Given the description of an element on the screen output the (x, y) to click on. 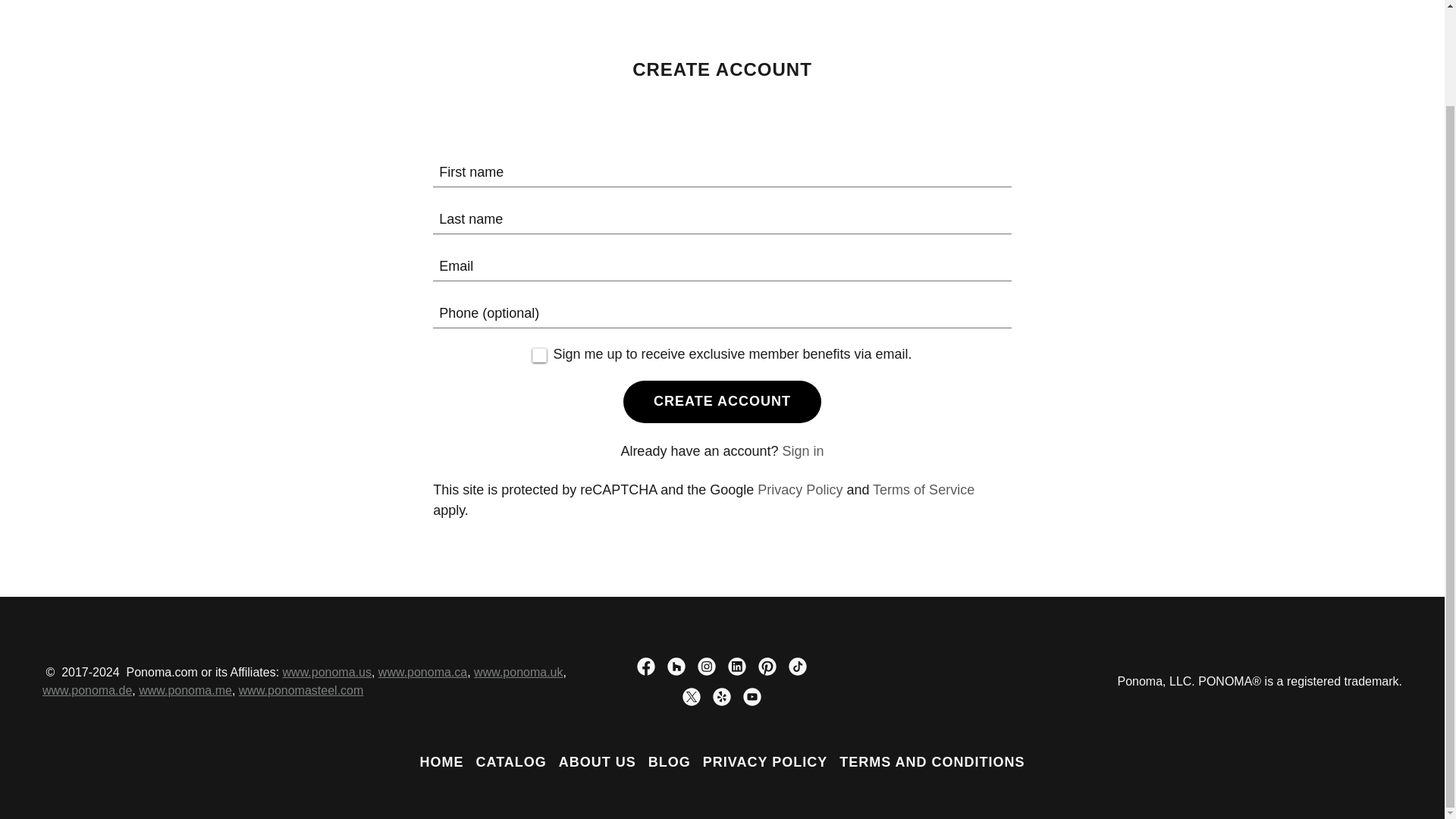
Privacy Policy (800, 489)
www.ponoma.ca (422, 671)
Sign in (803, 450)
www.ponoma.de (87, 689)
CREATE ACCOUNT (722, 401)
www.ponoma.us (326, 671)
Terms of Service (923, 489)
www.ponoma.uk (518, 671)
